Given the description of an element on the screen output the (x, y) to click on. 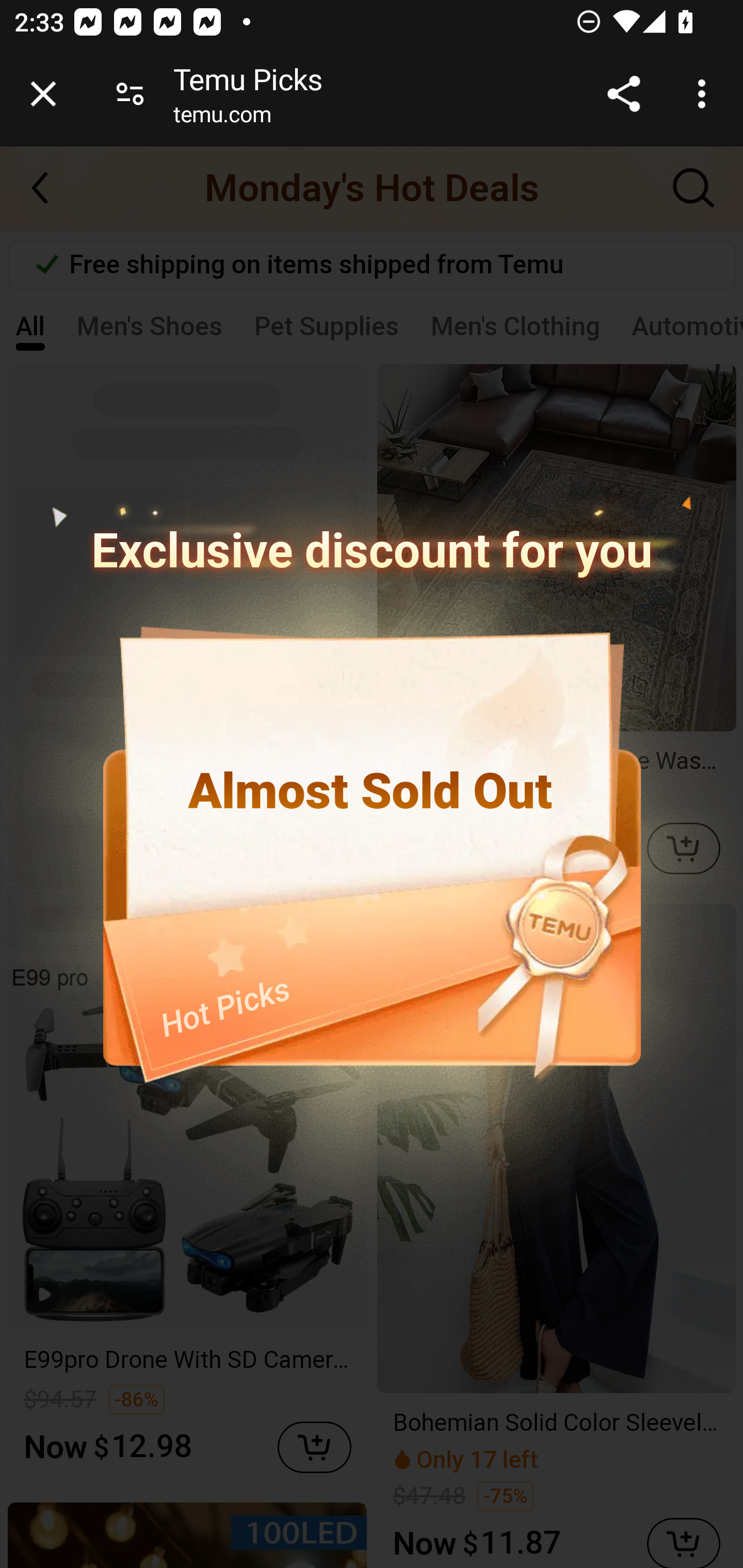
Close tab (43, 93)
Share link address (623, 93)
Customize and control Google Chrome (705, 93)
Connection is secure (129, 93)
temu.com (222, 117)
